Given the description of an element on the screen output the (x, y) to click on. 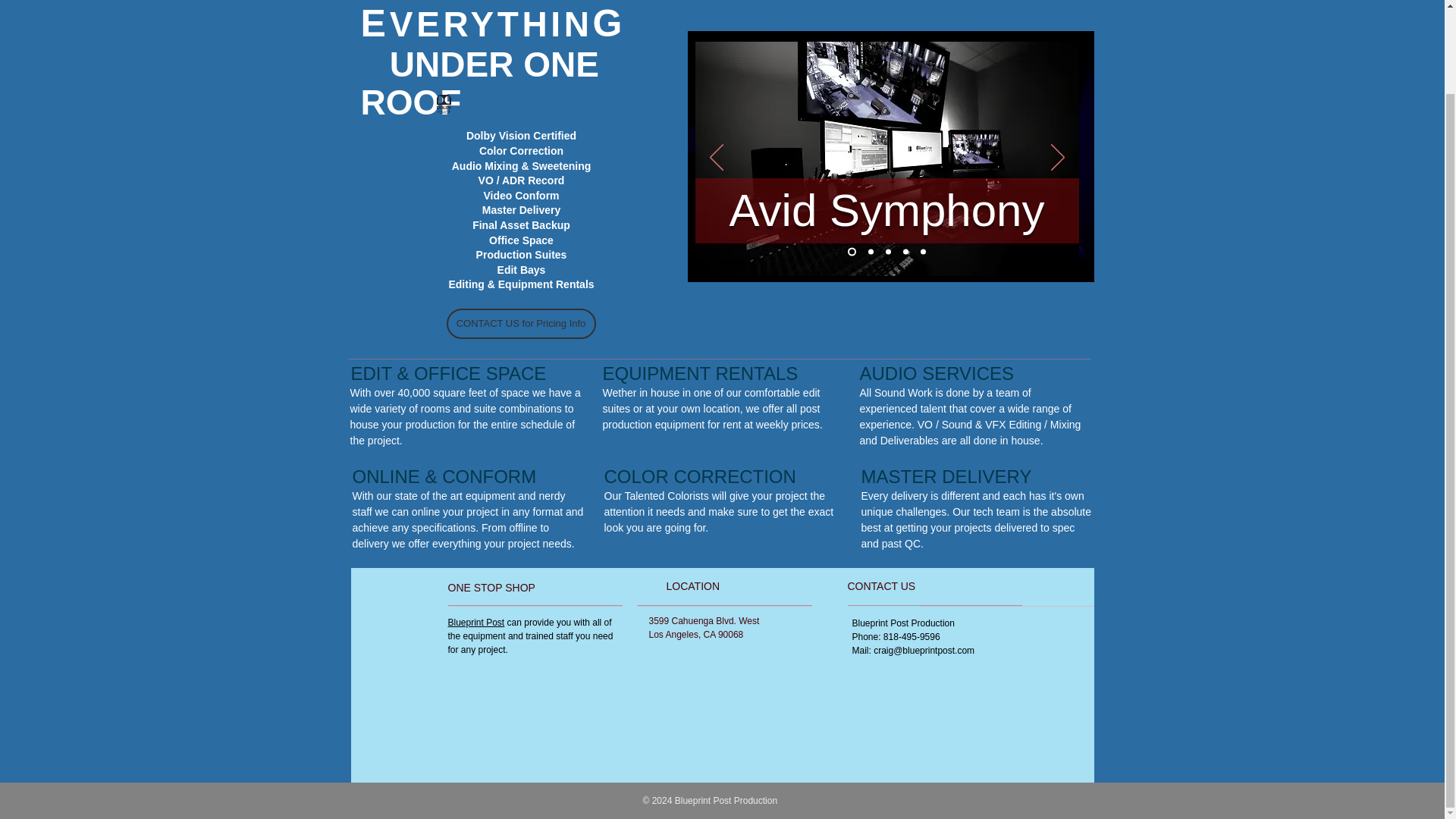
CONTACT US for Pricing Info (520, 323)
Blueprint Post (474, 622)
